Given the description of an element on the screen output the (x, y) to click on. 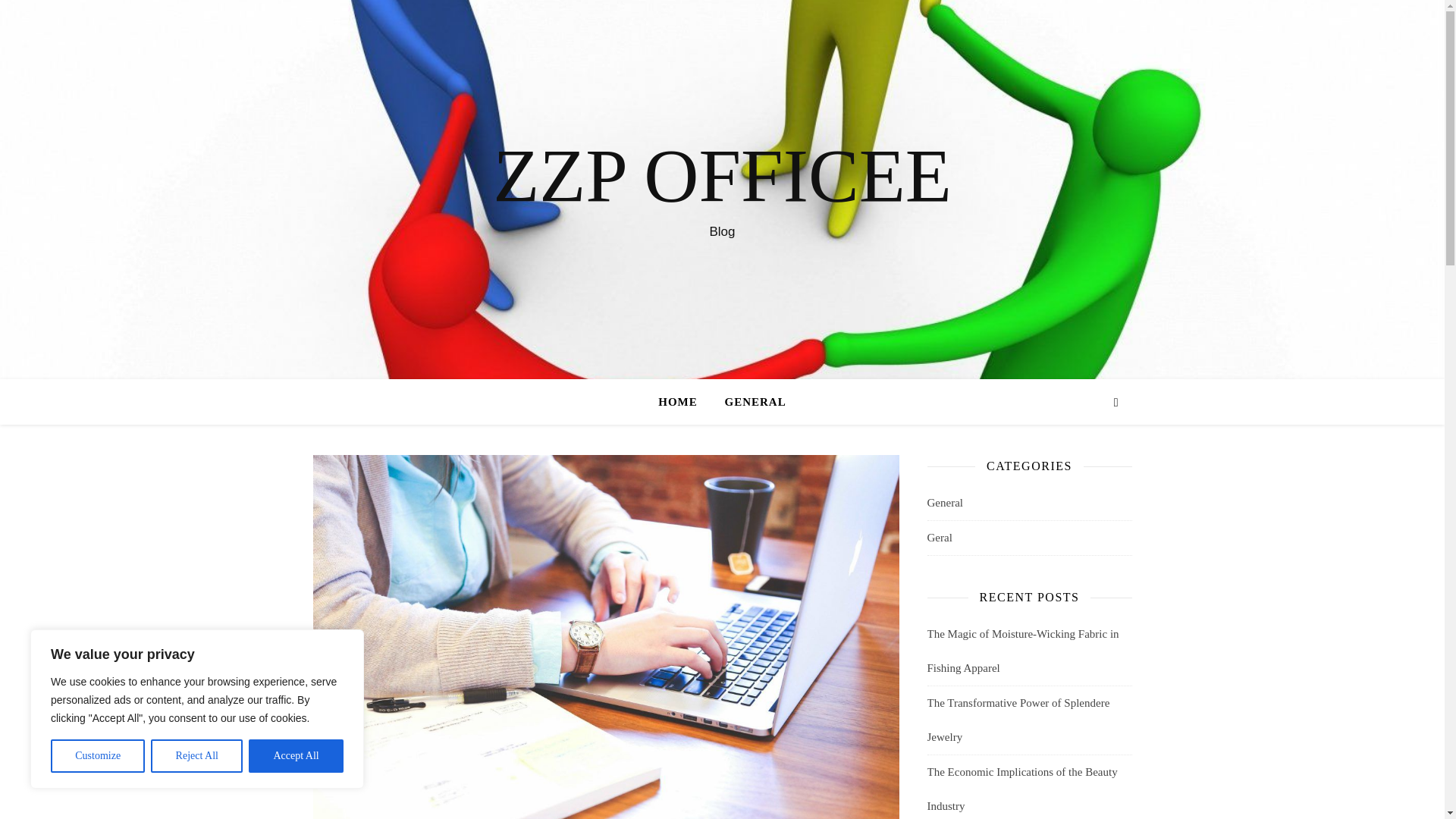
GENERAL (749, 402)
HOME (684, 402)
General (944, 503)
The Magic of Moisture-Wicking Fabric in Fishing Apparel (1022, 651)
Customize (97, 756)
Accept All (295, 756)
Reject All (197, 756)
